Given the description of an element on the screen output the (x, y) to click on. 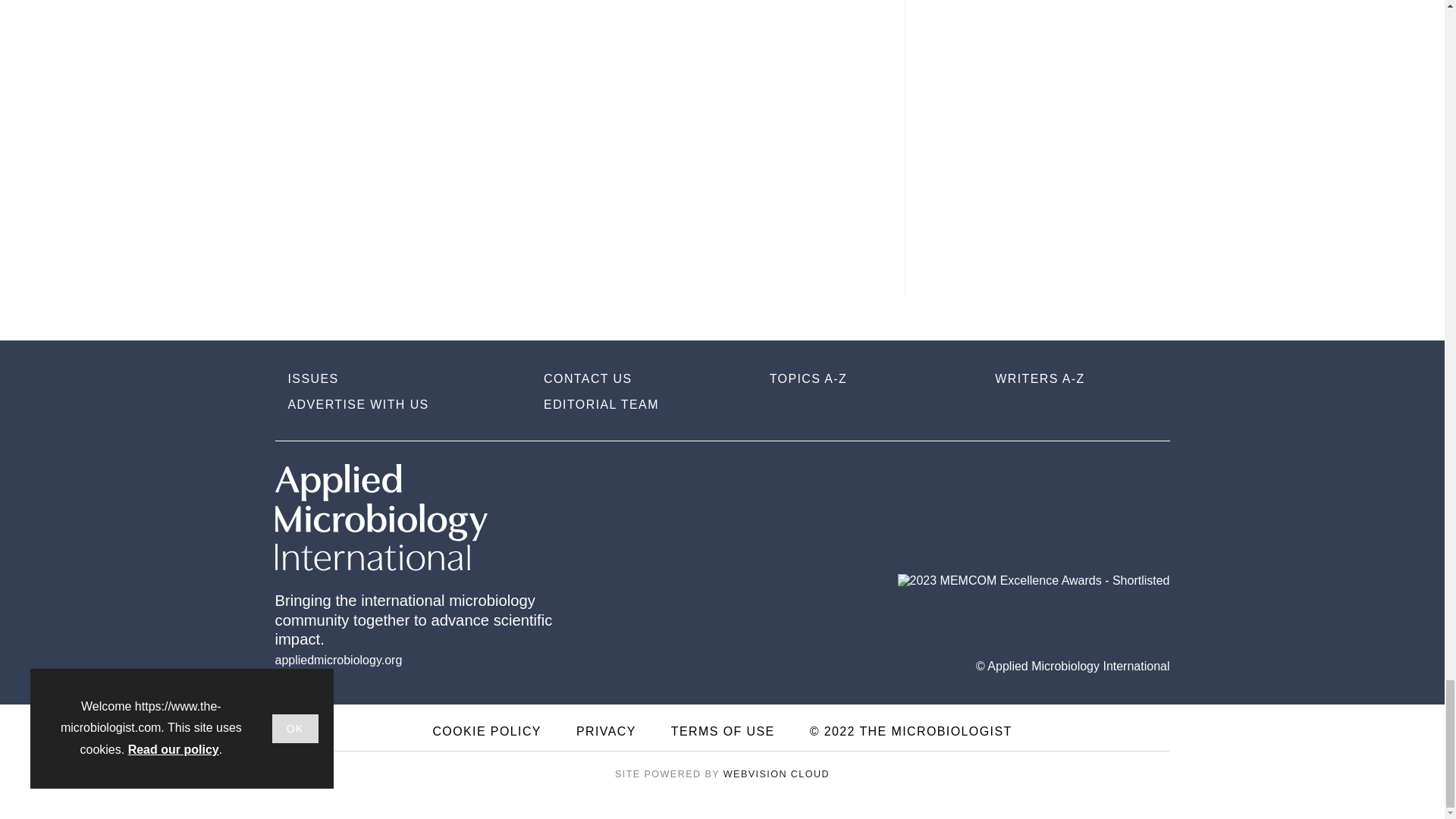
Connect with us on Twitter (1102, 481)
Connect with us on Facebook (1149, 480)
Connect with us on Linked in (1057, 481)
Connect with us on Instagram (1015, 481)
